Given the description of an element on the screen output the (x, y) to click on. 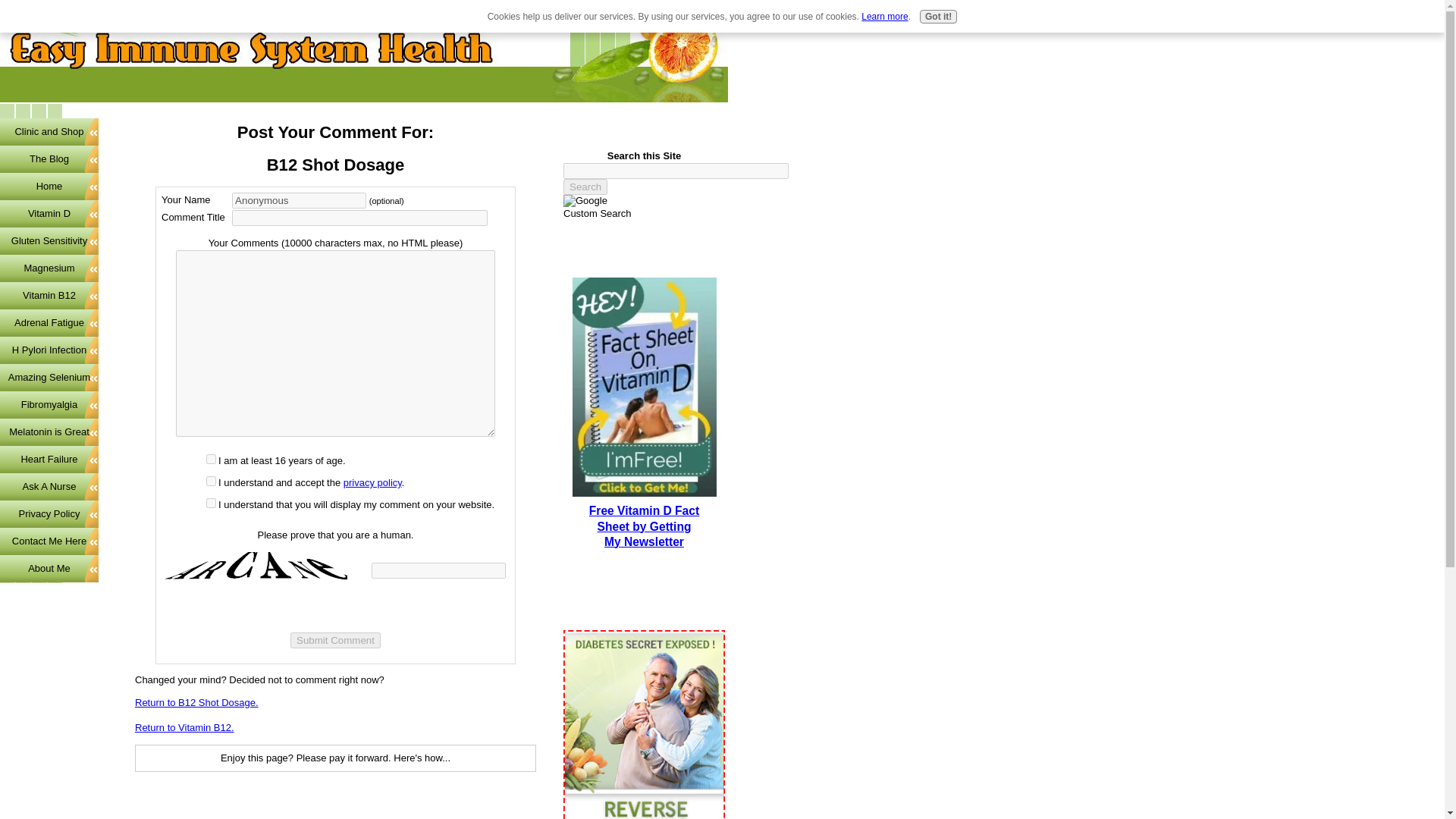
Adrenal Fatigue (49, 322)
Melatonin is Great (49, 431)
Contact Me Here (49, 541)
Return to Vitamin B12. (184, 727)
Gluten Sensitivity (49, 240)
Submit Comment (334, 640)
privacy policy (372, 482)
The Blog (49, 158)
Search (585, 186)
1 (210, 480)
Ask A Nurse (49, 486)
Learn more (884, 16)
1 (210, 459)
Return to B12 Shot Dosage. (197, 702)
Submit Comment (334, 640)
